Given the description of an element on the screen output the (x, y) to click on. 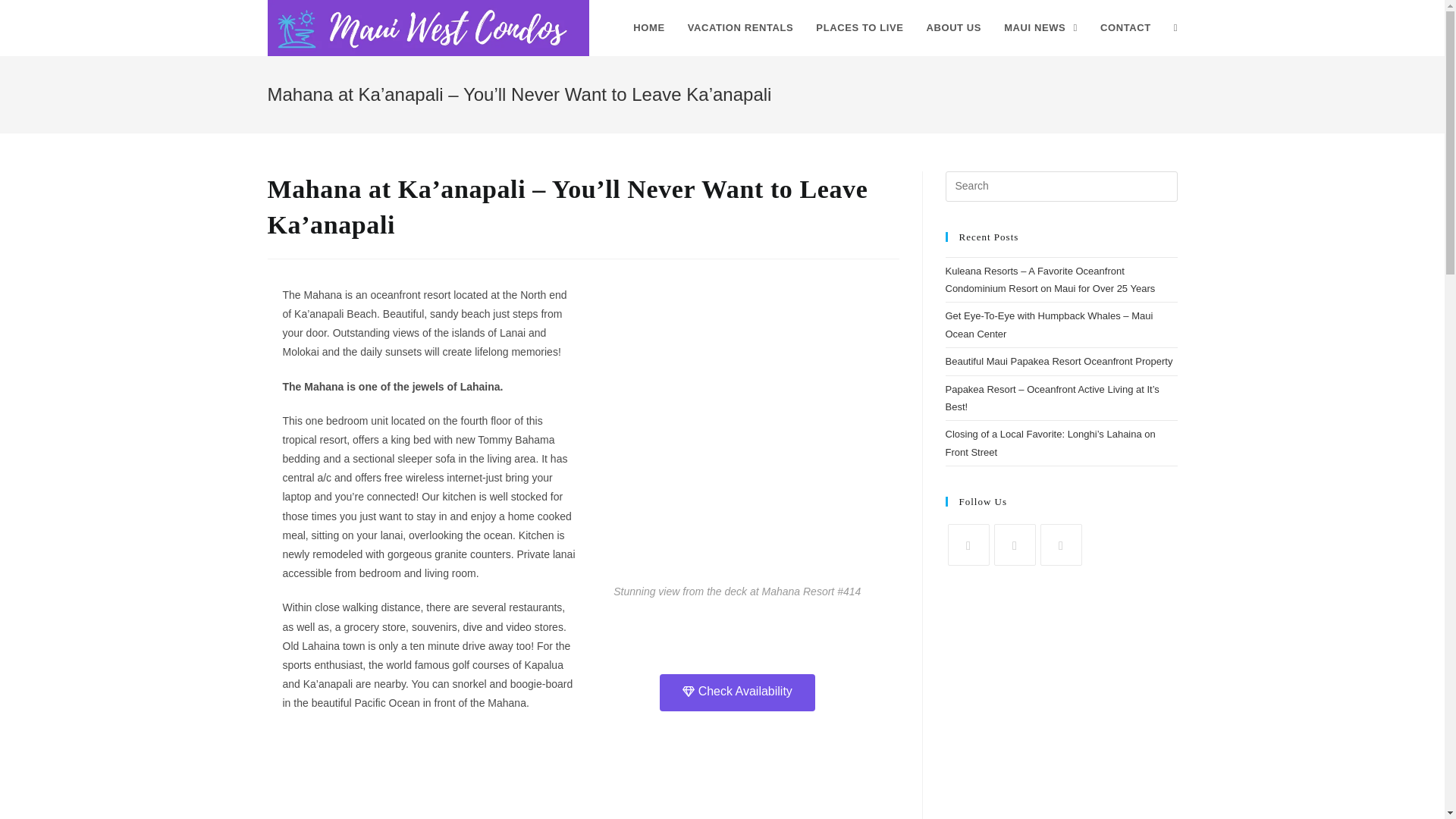
CONTACT (1125, 28)
HOME (648, 28)
PLACES TO LIVE (859, 28)
Check Availability (737, 692)
Beautiful Maui Papakea Resort Oceanfront Property (1058, 360)
MAUI NEWS (1040, 28)
VACATION RENTALS (741, 28)
ABOUT US (953, 28)
